Given the description of an element on the screen output the (x, y) to click on. 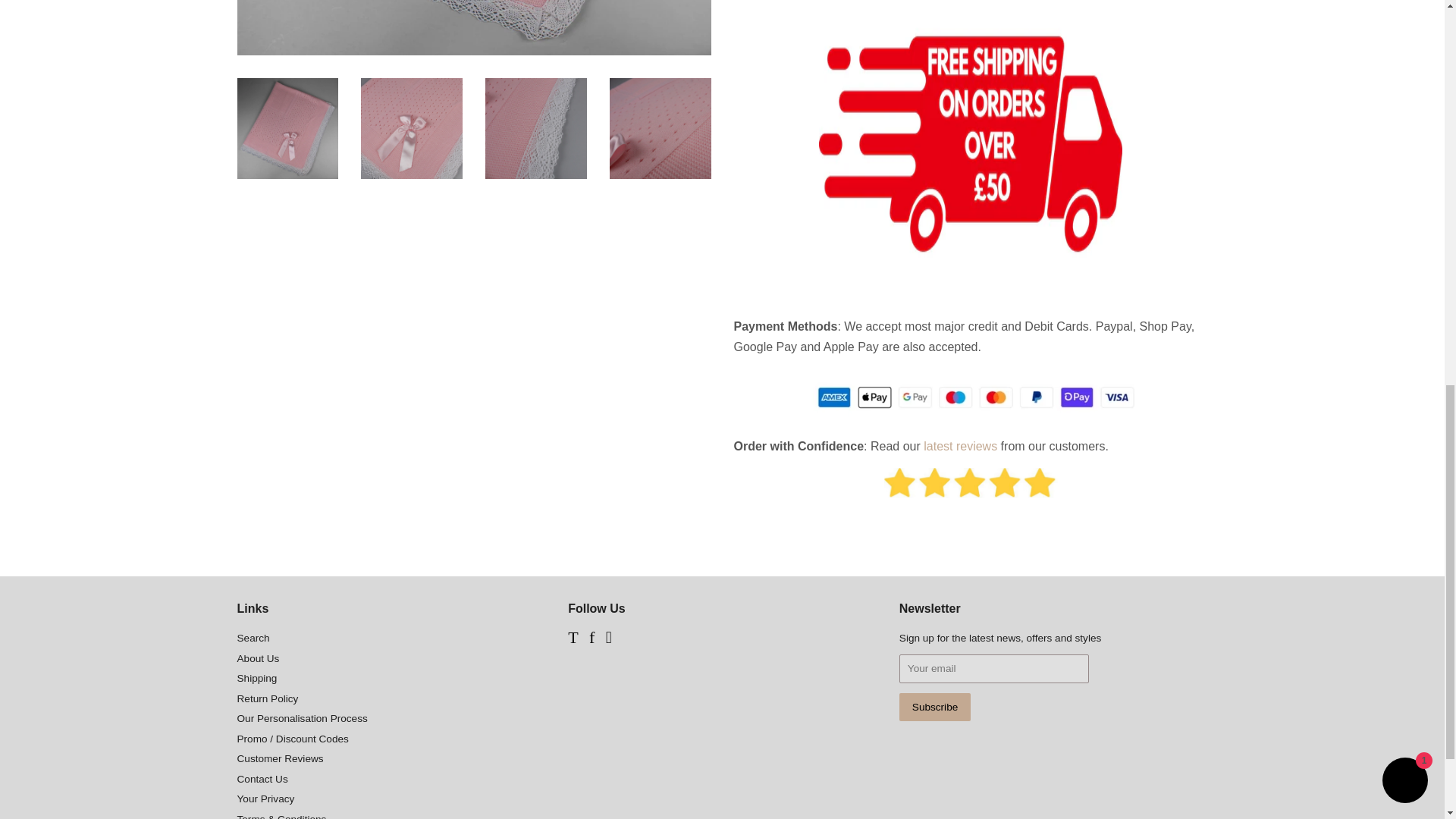
customer reviews (960, 445)
Subscribe (935, 706)
